Given the description of an element on the screen output the (x, y) to click on. 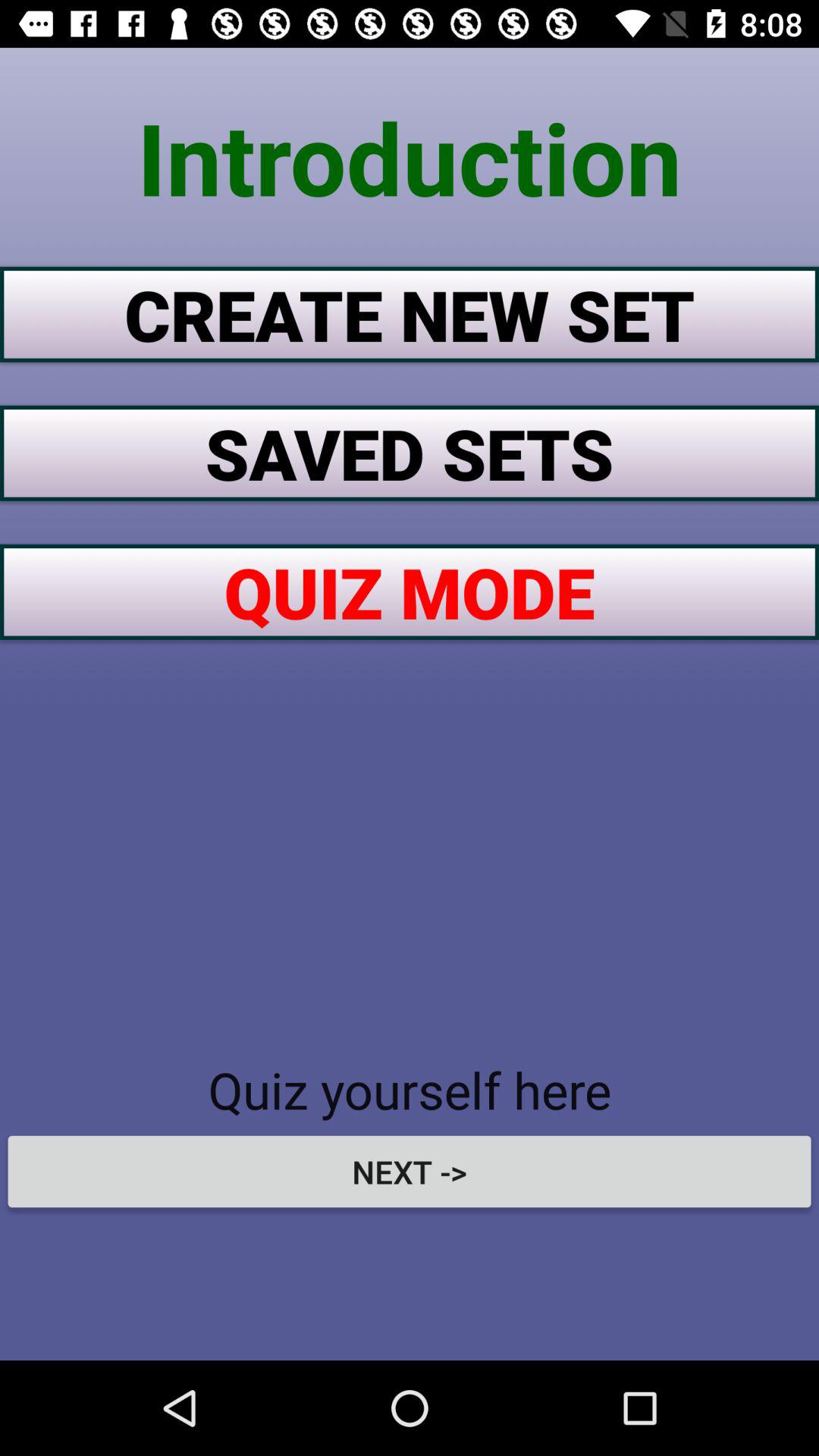
swipe to create new set button (409, 314)
